Given the description of an element on the screen output the (x, y) to click on. 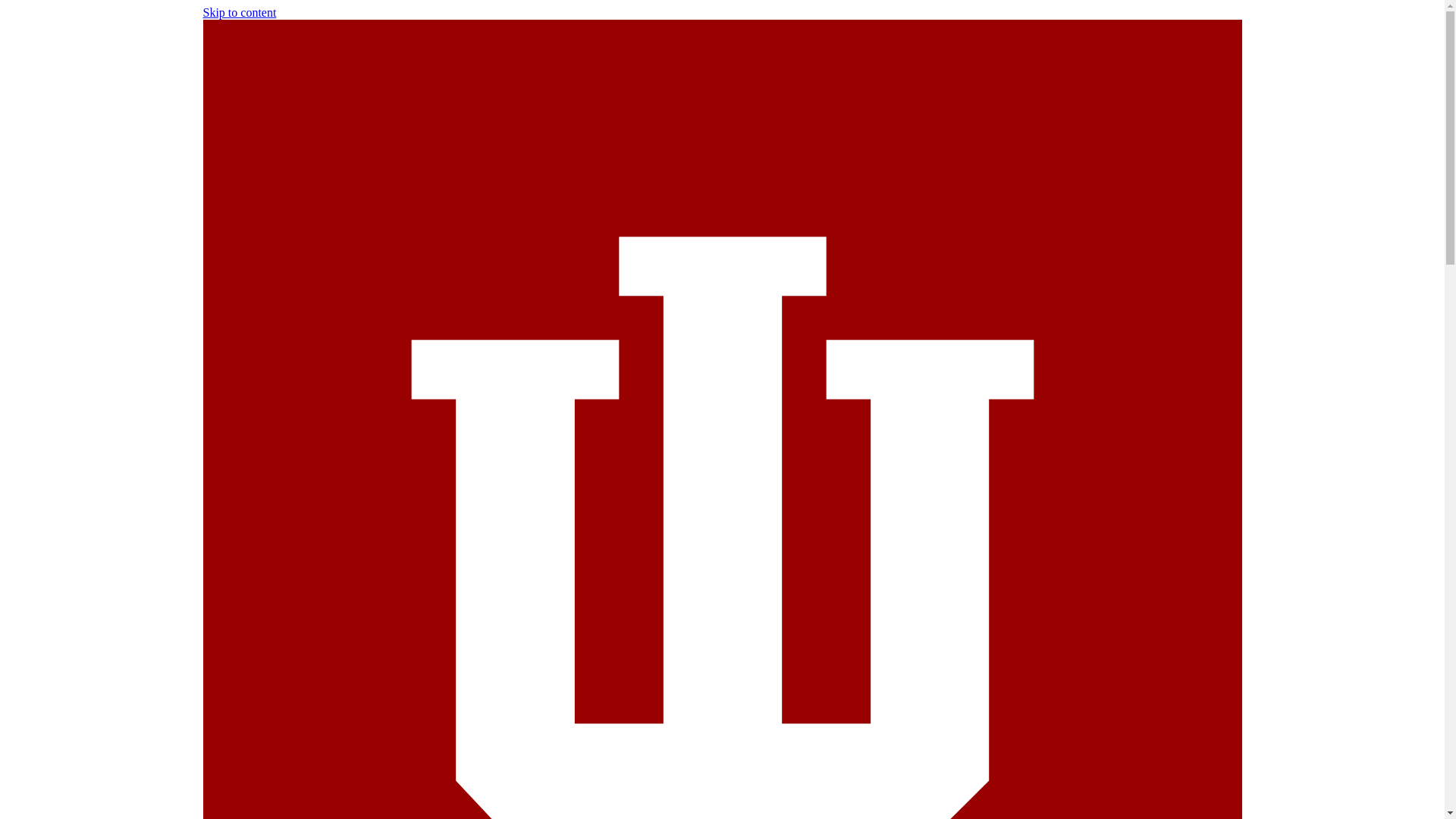
Skip to content (239, 11)
